Given the description of an element on the screen output the (x, y) to click on. 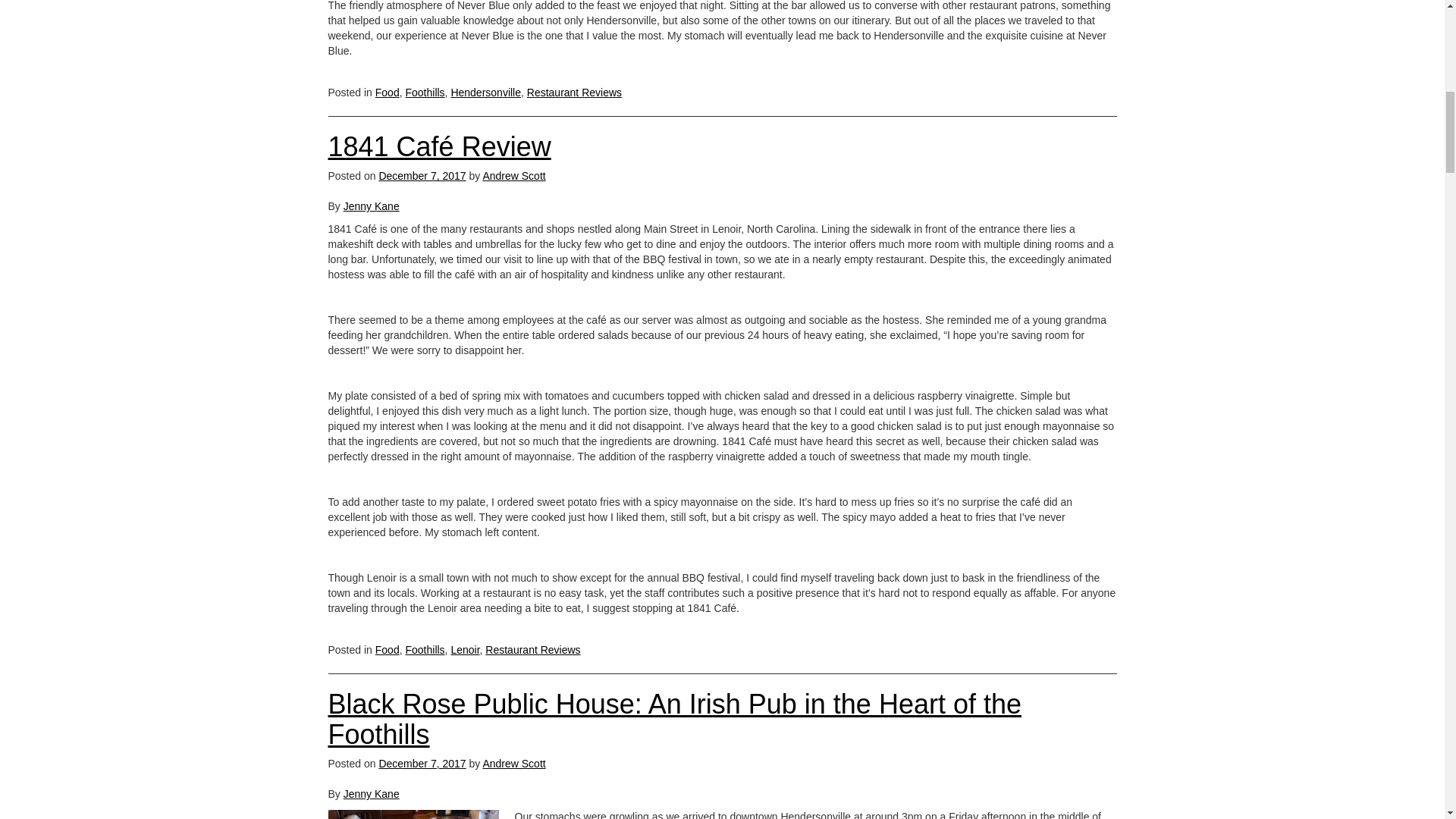
Lenoir (464, 649)
Food (386, 649)
Restaurant Reviews (531, 649)
Restaurant Reviews (574, 92)
Andrew Scott (512, 175)
Foothills (424, 649)
December 7, 2017 (421, 763)
Foothills (424, 92)
View all posts by Andrew Scott (512, 763)
Hendersonville (485, 92)
